Given the description of an element on the screen output the (x, y) to click on. 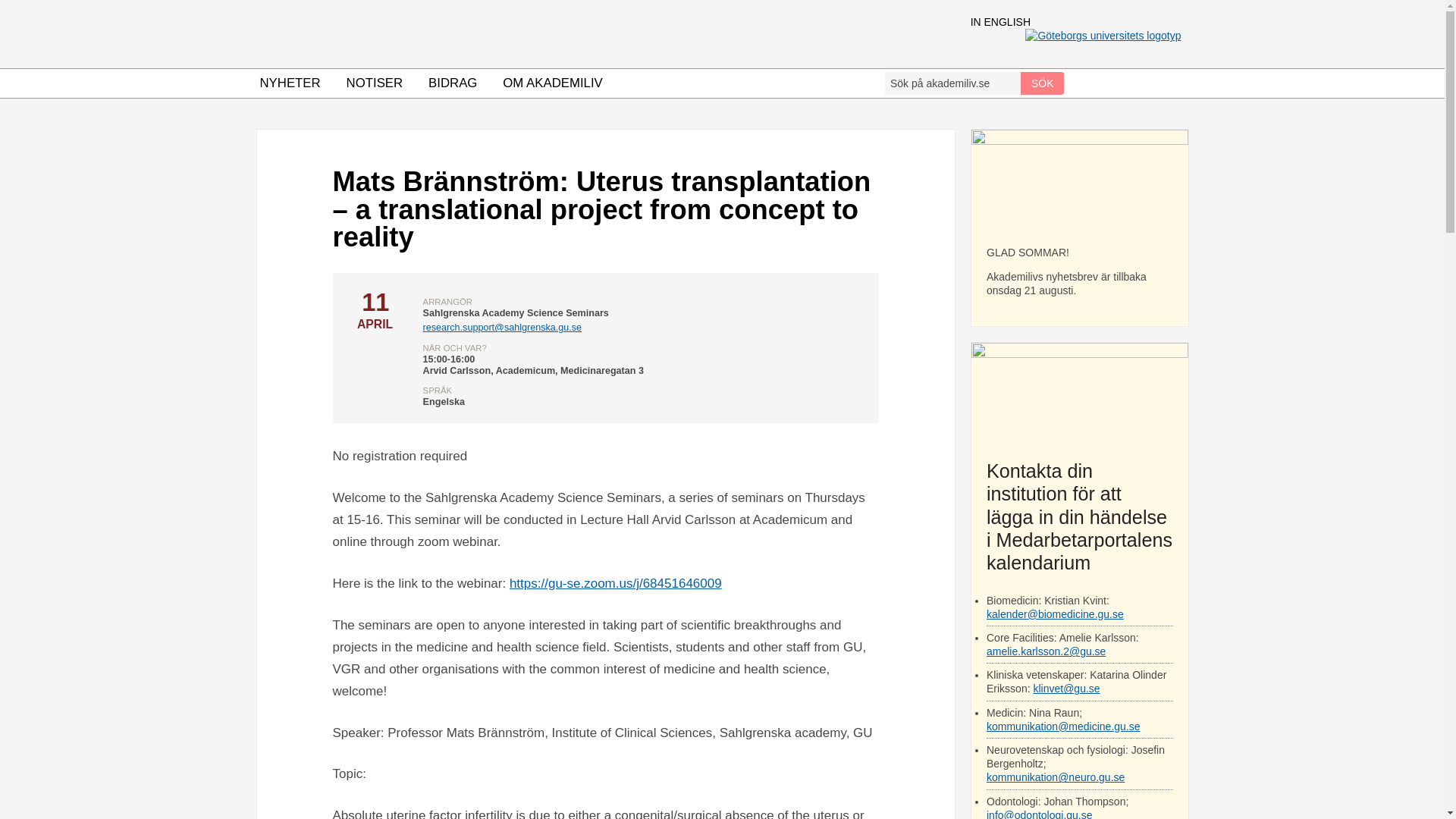
NOTISER (374, 82)
OM AKADEMILIV (553, 82)
IN ENGLISH (1000, 21)
2024-04-11 (373, 309)
NYHETER (289, 82)
Akademiliv (564, 33)
BIDRAG (451, 82)
